Given the description of an element on the screen output the (x, y) to click on. 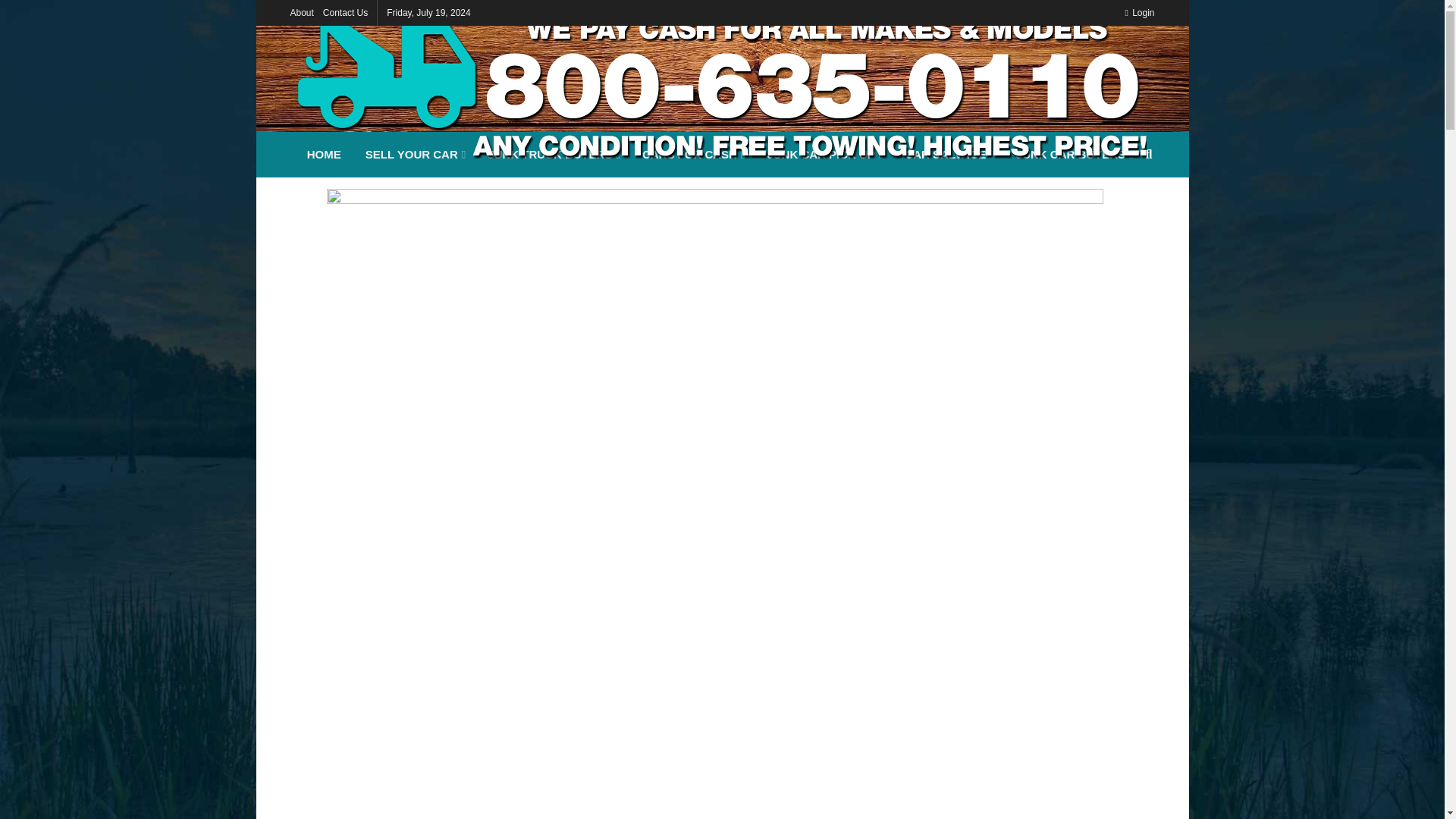
CARS FOR CASH (692, 154)
Contact Us (345, 12)
JUNK CAR BUYERS (1073, 154)
Login (1139, 12)
SELL YOUR CAR (414, 154)
About (301, 12)
JUNK TRUCK BUYERS (553, 154)
HOME (324, 154)
JUNK CAR PICK UP (823, 154)
CAR SALVAGE (947, 154)
